Given the description of an element on the screen output the (x, y) to click on. 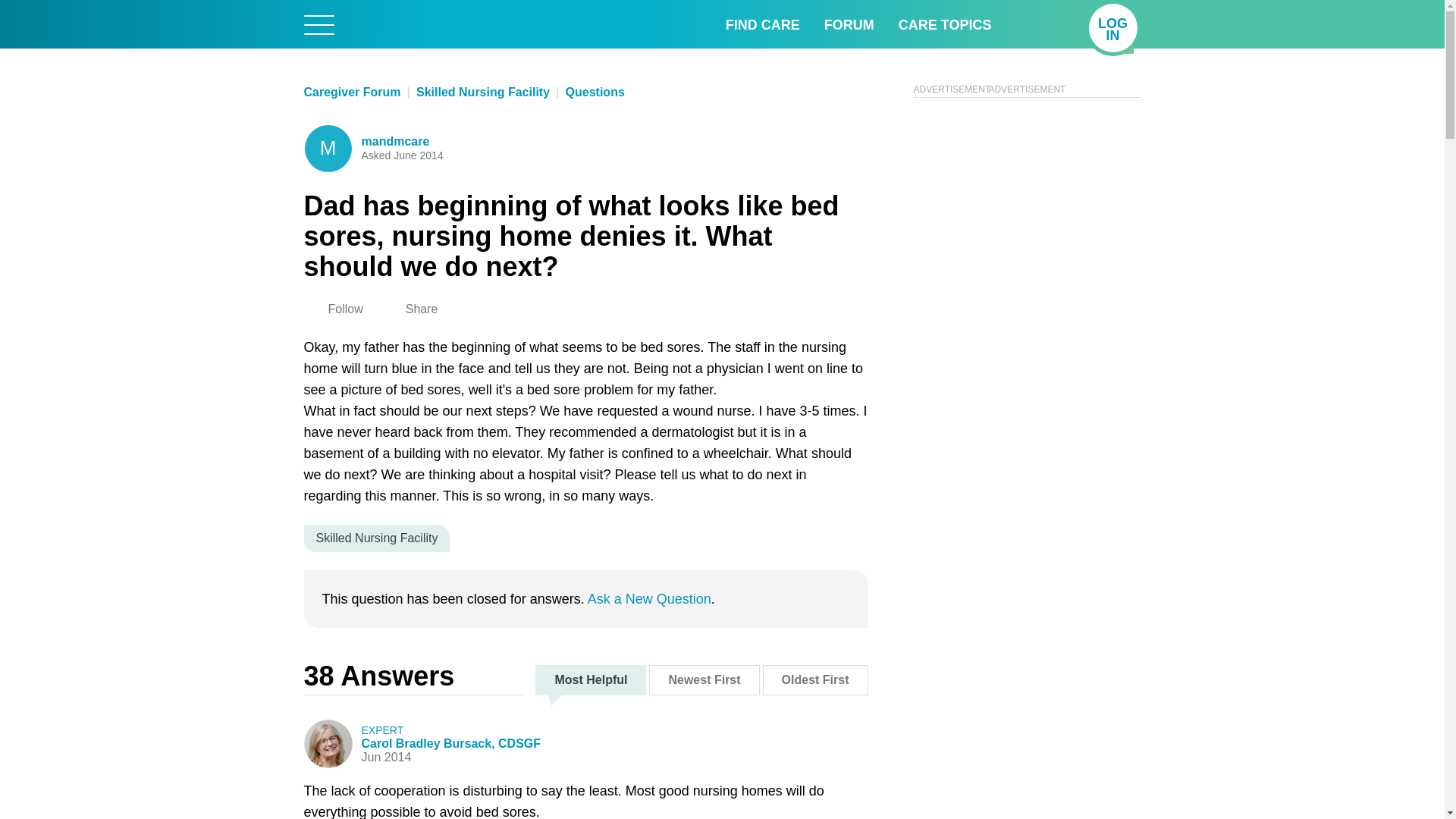
FIND CARE (1113, 28)
CARE TOPICS (762, 24)
FORUM (944, 24)
